Given the description of an element on the screen output the (x, y) to click on. 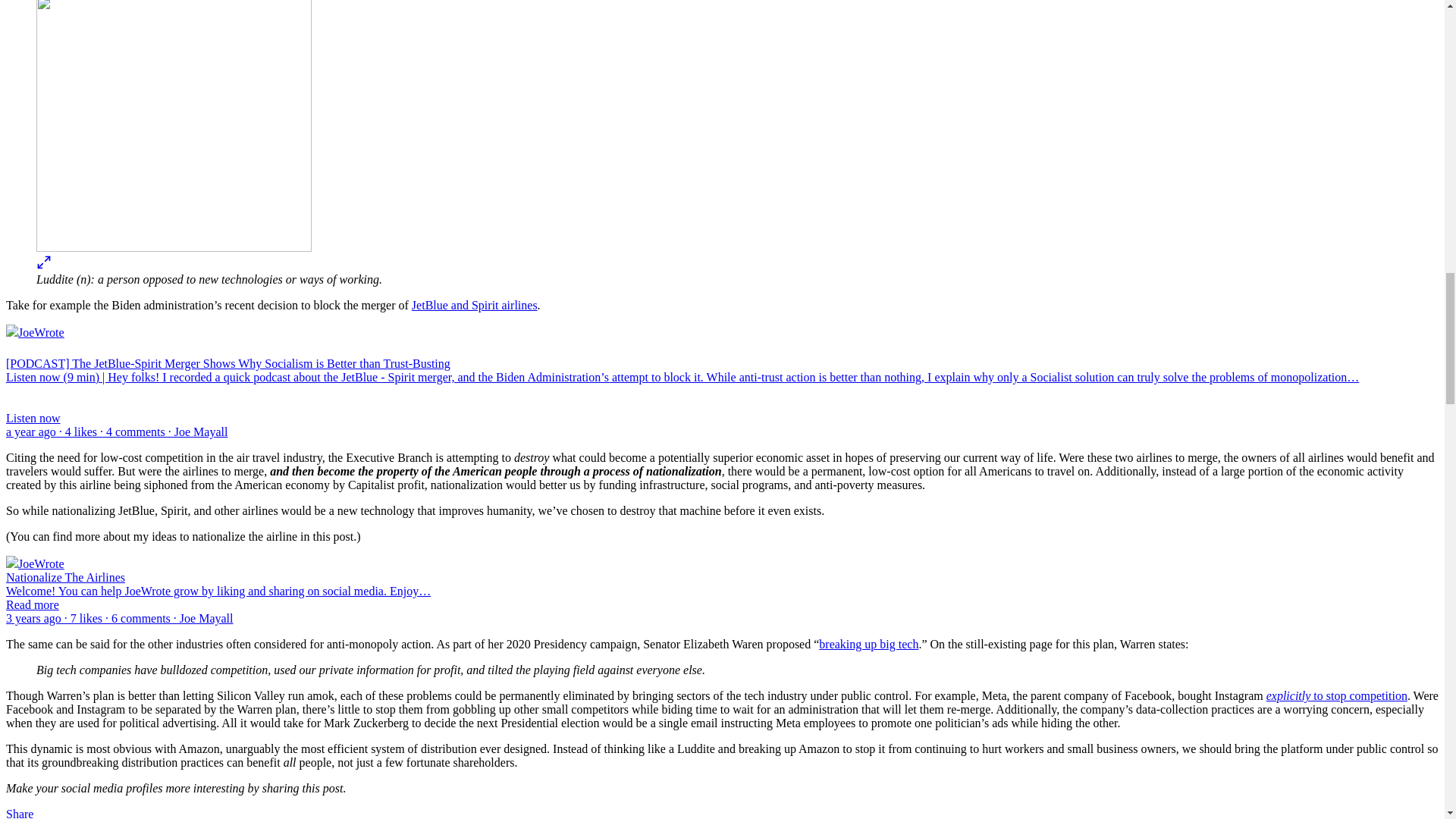
to stop competition (1358, 695)
JetBlue and Spirit airlines (474, 305)
Share (19, 813)
explicitly (1288, 695)
breaking up big tech (868, 644)
